Given the description of an element on the screen output the (x, y) to click on. 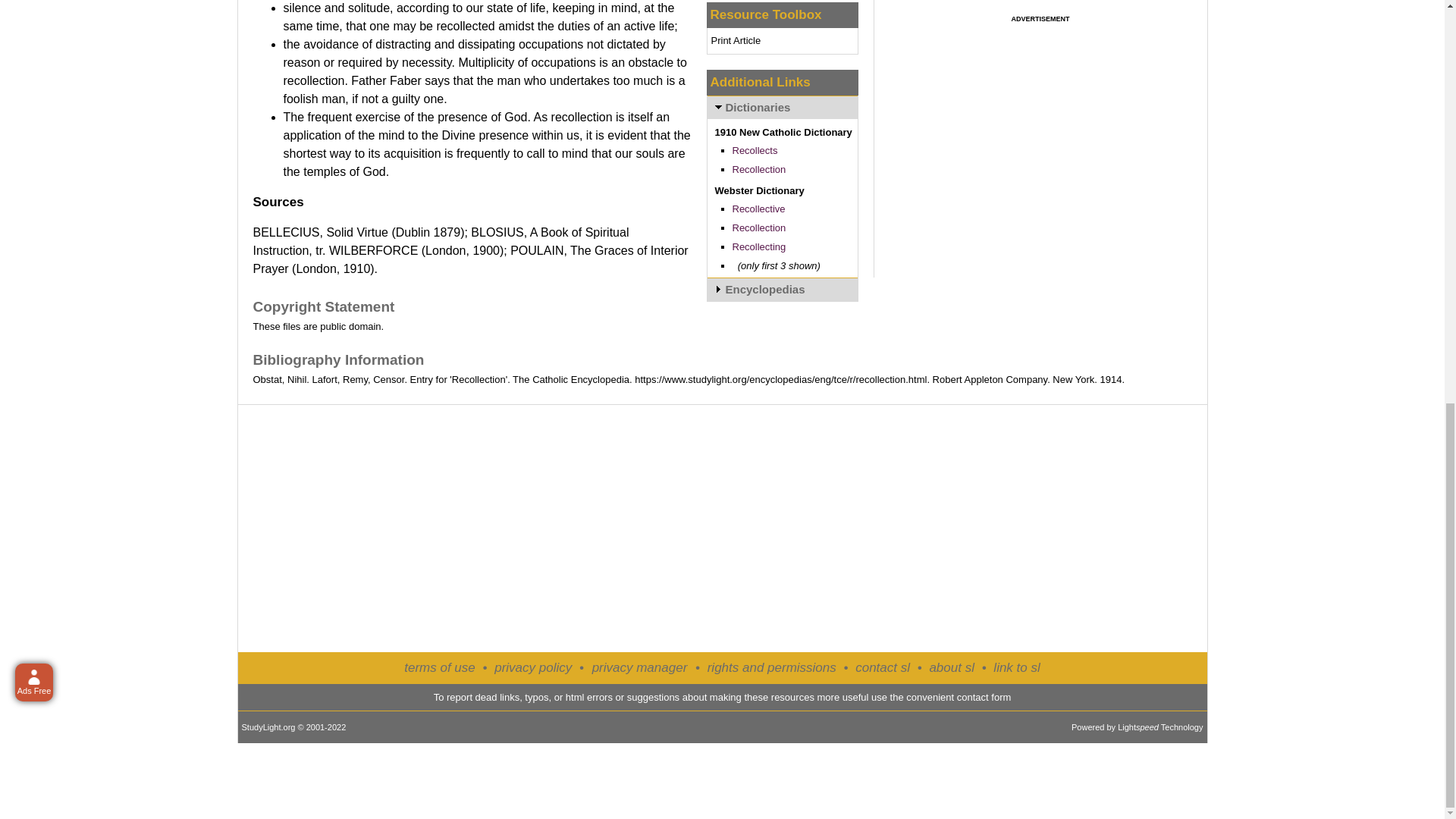
Dictionaries (781, 106)
Print Article (736, 40)
Recollects (754, 150)
Recollection (759, 169)
